Given the description of an element on the screen output the (x, y) to click on. 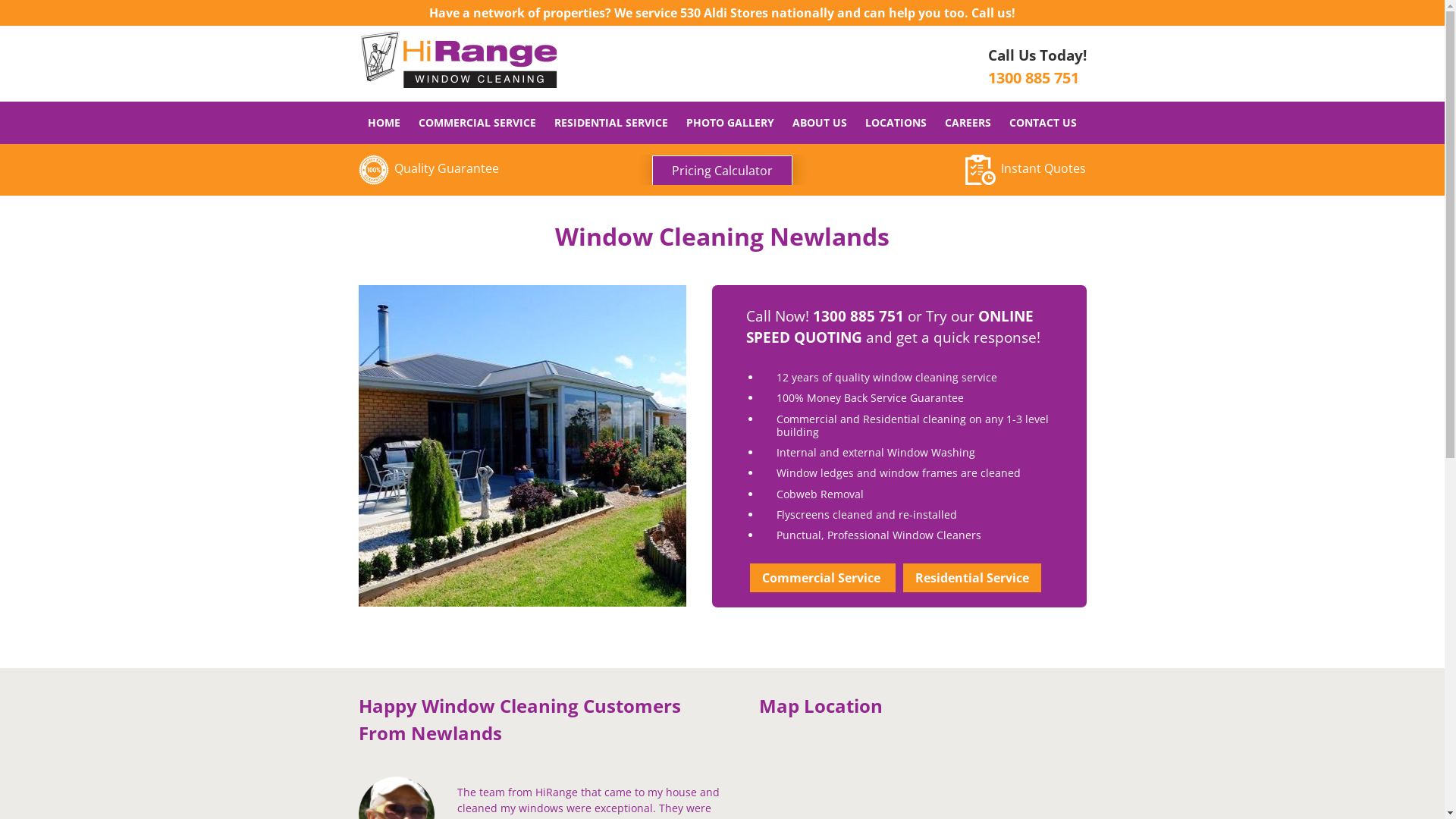
HOME Element type: text (383, 122)
CONTACT US Element type: text (1042, 122)
Pricing Calculator Element type: text (722, 170)
RESIDENTIAL SERVICE Element type: text (611, 122)
LOCATIONS Element type: text (895, 122)
1300 885 751 Element type: text (1032, 76)
Commercial Service Element type: text (822, 577)
Residential Service Element type: text (972, 577)
PHOTO GALLERY Element type: text (730, 122)
HiRange Window Cleaning Element type: text (457, 65)
ABOUT US Element type: text (819, 122)
Instant Quotes Element type: text (1025, 168)
CAREERS Element type: text (967, 122)
COMMERCIAL SERVICE Element type: text (477, 122)
